Given the description of an element on the screen output the (x, y) to click on. 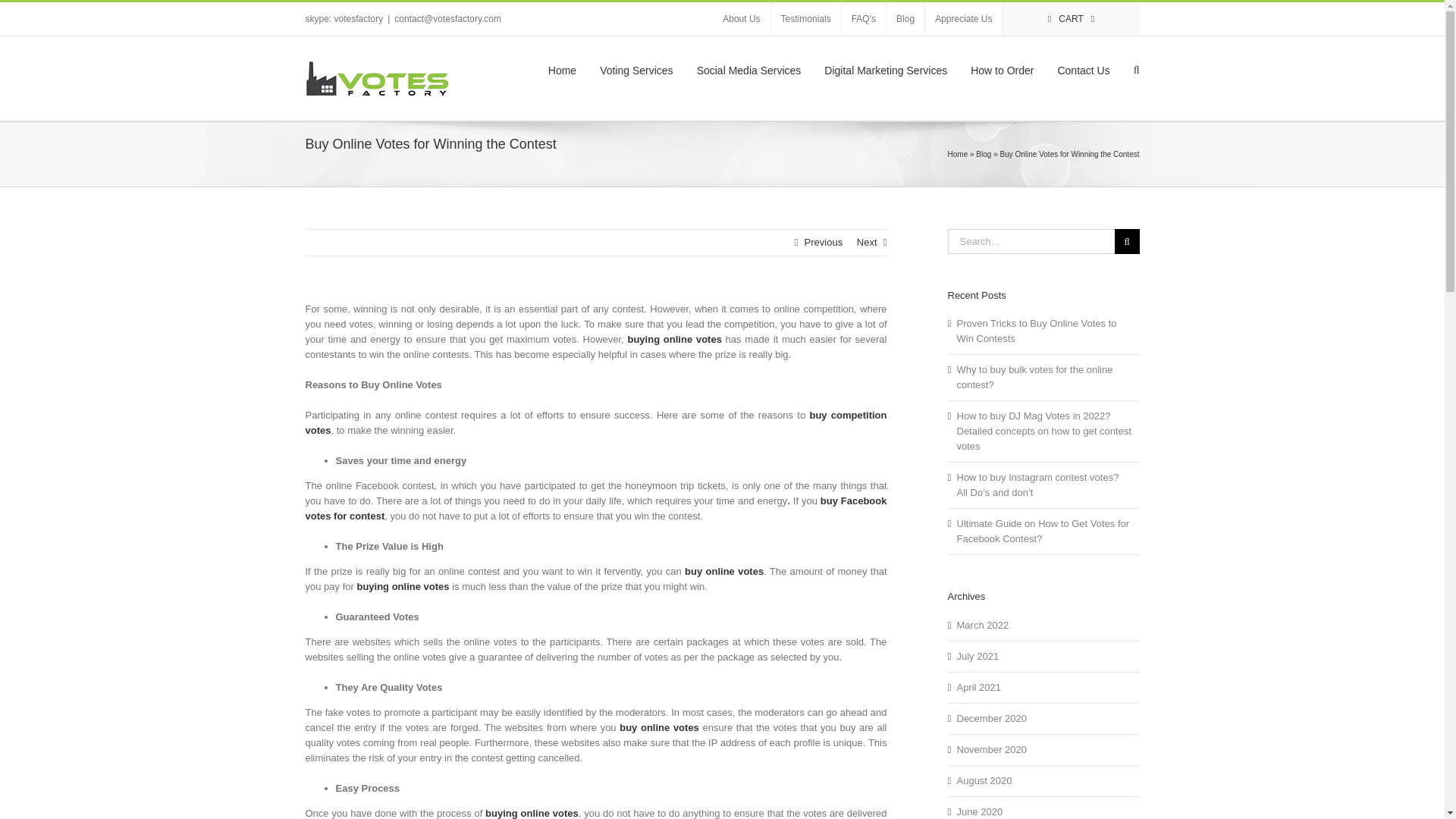
About Us (741, 19)
Buy Facebook Votes for Contest (595, 508)
Buy Online Votes (659, 727)
Blog (905, 19)
Voting Services (635, 68)
Social Media Services (749, 68)
CART (1071, 19)
Buy Competition Votes (595, 422)
Buying Online Votes (402, 586)
Testimonials (806, 19)
Buying Online Votes (673, 338)
Buying Online Votes (531, 813)
Appreciate Us (962, 19)
Buy Online Votes (723, 571)
